Given the description of an element on the screen output the (x, y) to click on. 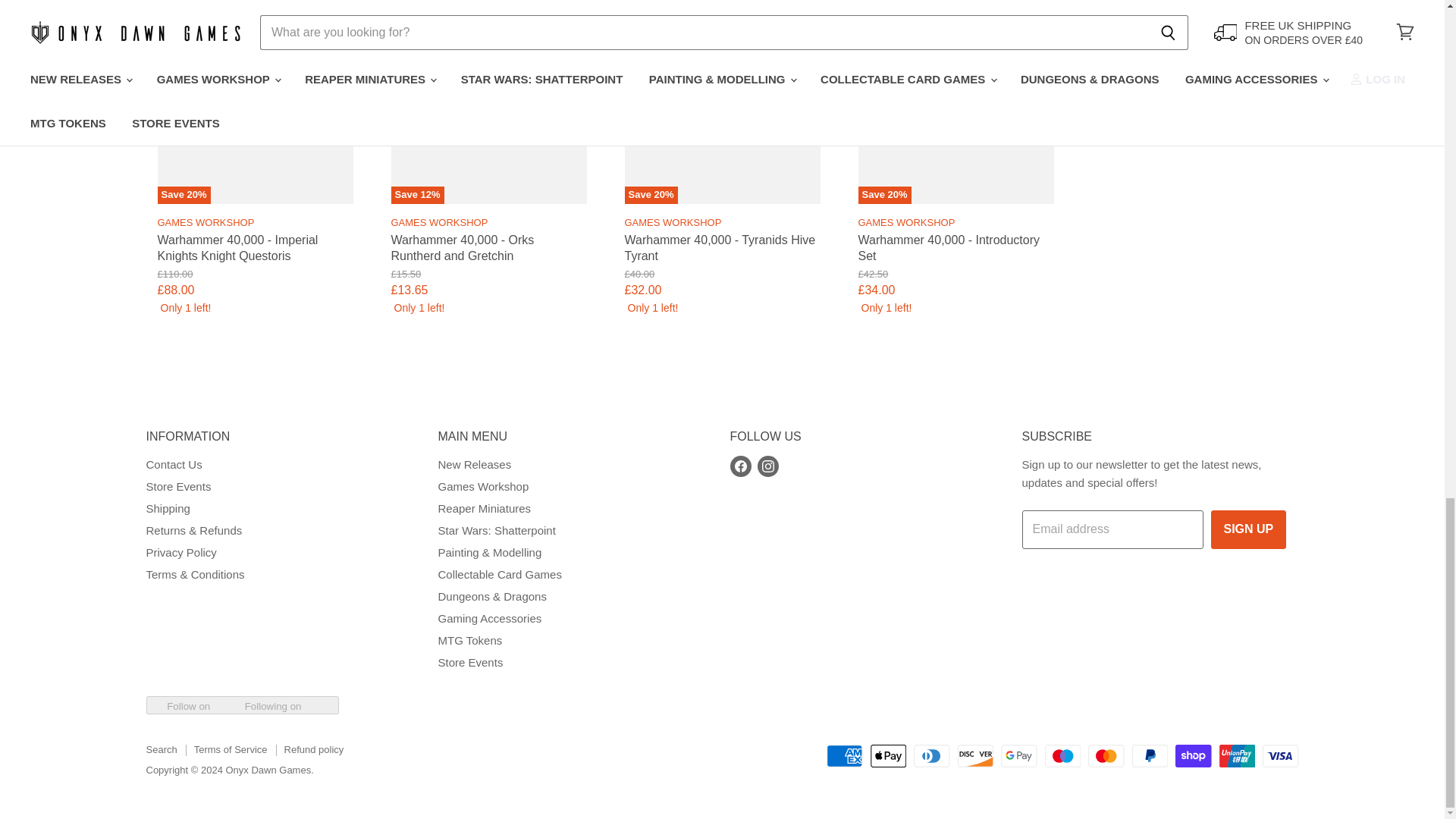
Instagram (767, 465)
Facebook (740, 465)
